Given the description of an element on the screen output the (x, y) to click on. 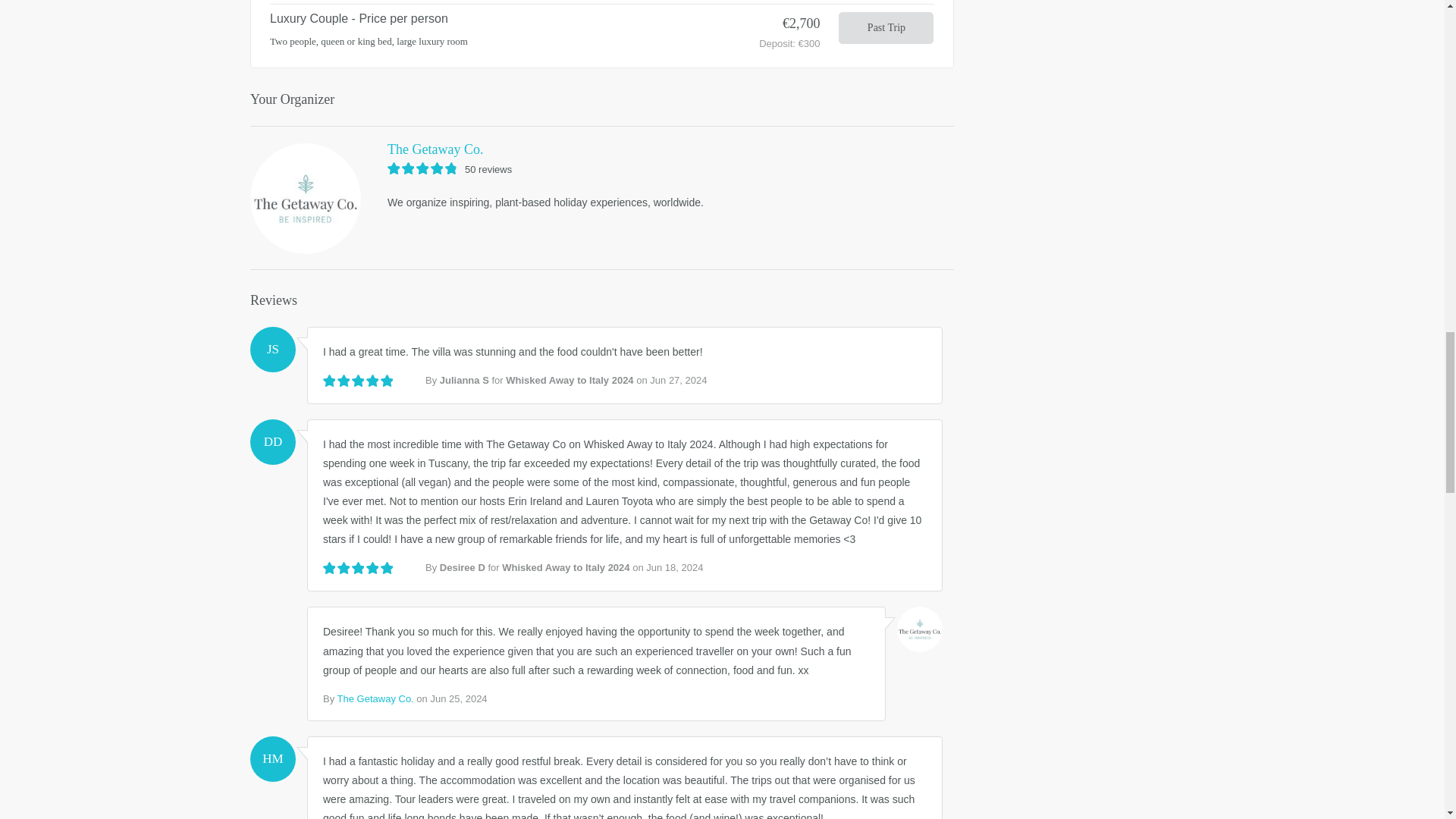
The Getaway Co. (601, 149)
Past Trip (885, 28)
